Given the description of an element on the screen output the (x, y) to click on. 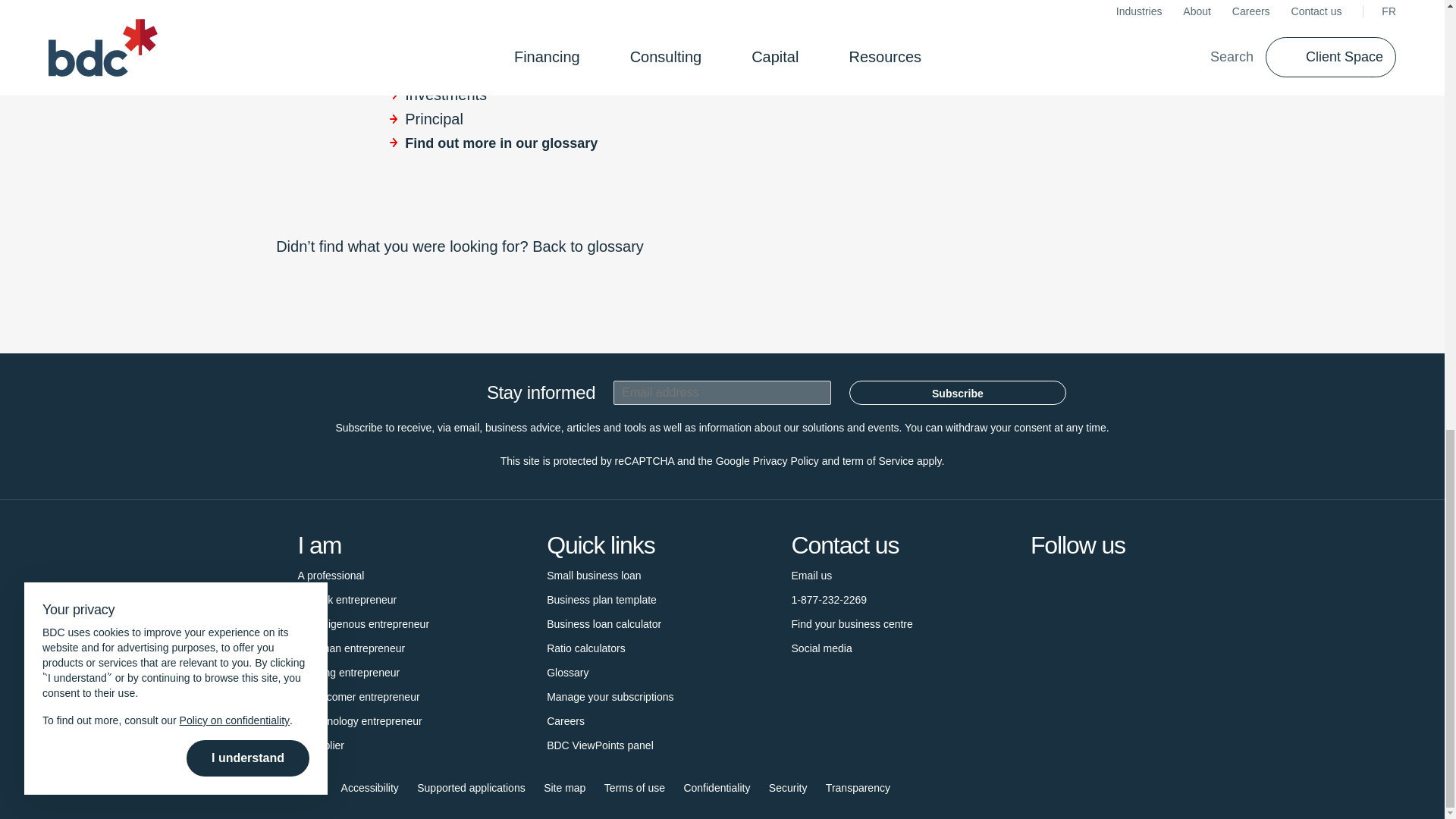
Business dictionary (567, 672)
Manage my email subscriptions (609, 696)
Technology (359, 721)
Professional (330, 575)
Young entrepreneur (347, 672)
Black Entrepreneur (346, 599)
Business centres (852, 623)
Woman entrepreneur (350, 648)
Social media (821, 648)
Supplier (320, 745)
